Given the description of an element on the screen output the (x, y) to click on. 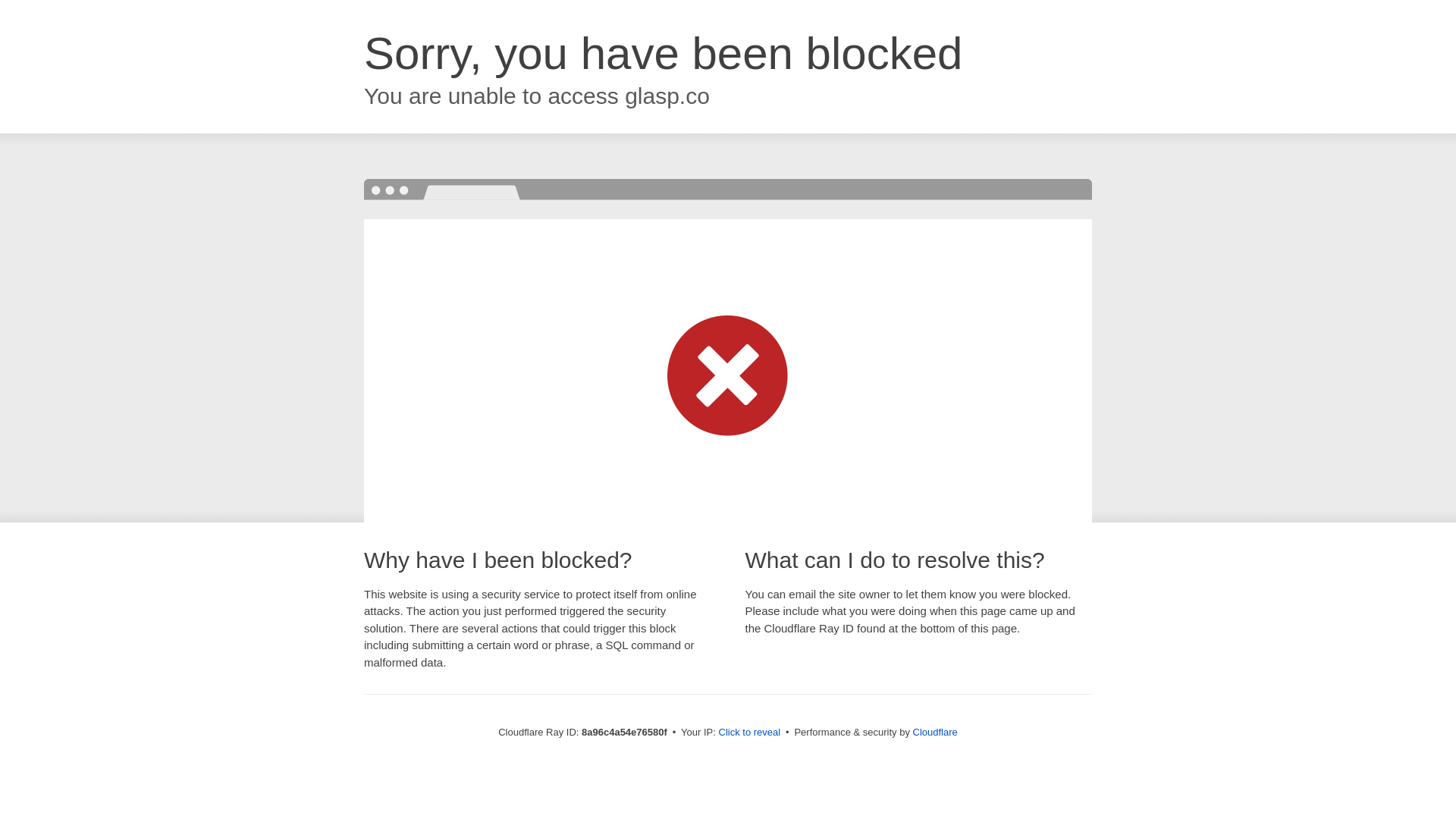
Click to reveal (749, 732)
Cloudflare (935, 731)
